Given the description of an element on the screen output the (x, y) to click on. 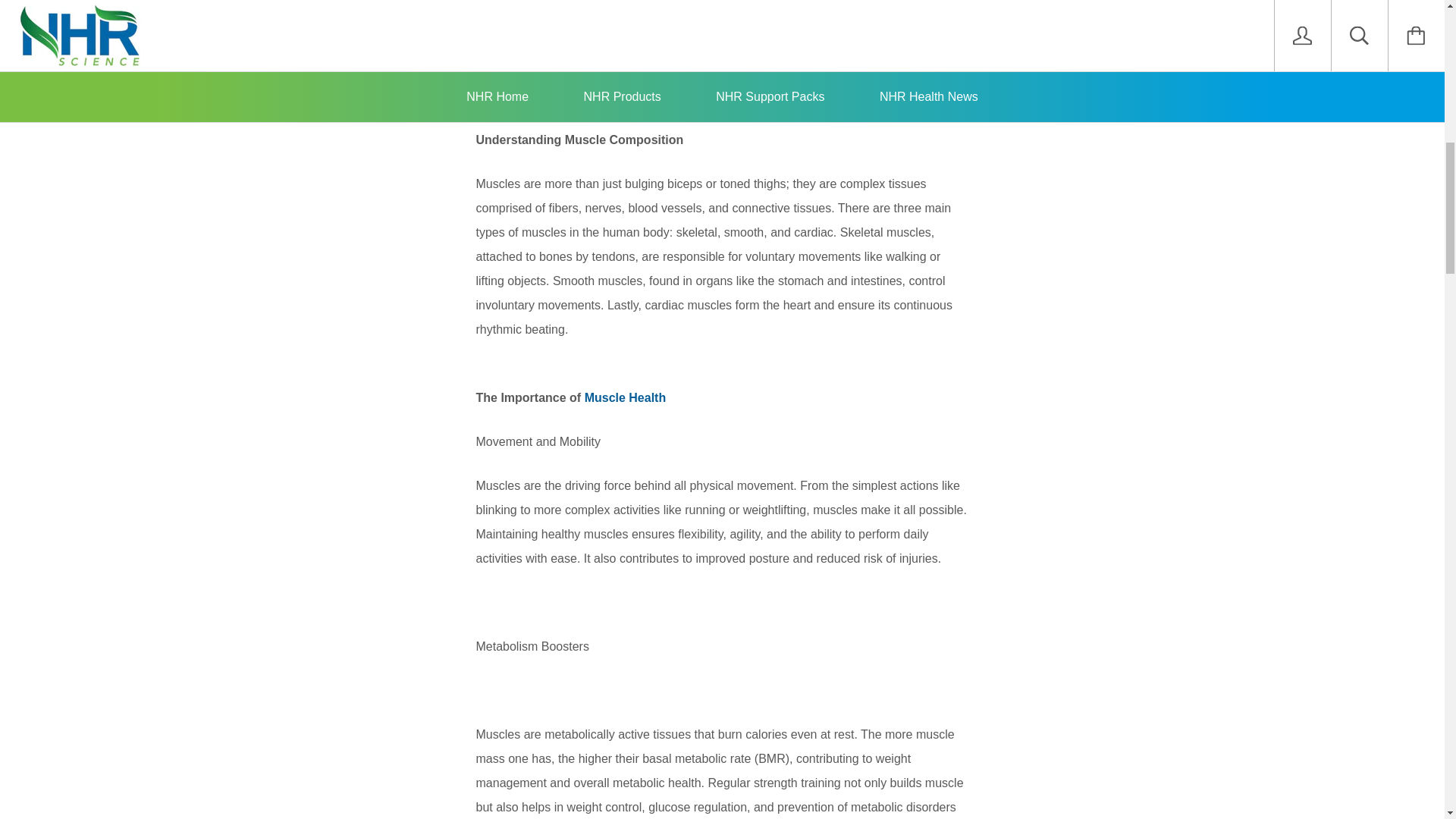
Muscle Health (625, 397)
muscle health (513, 71)
Muscle Health (625, 397)
muscle health (513, 71)
